Given the description of an element on the screen output the (x, y) to click on. 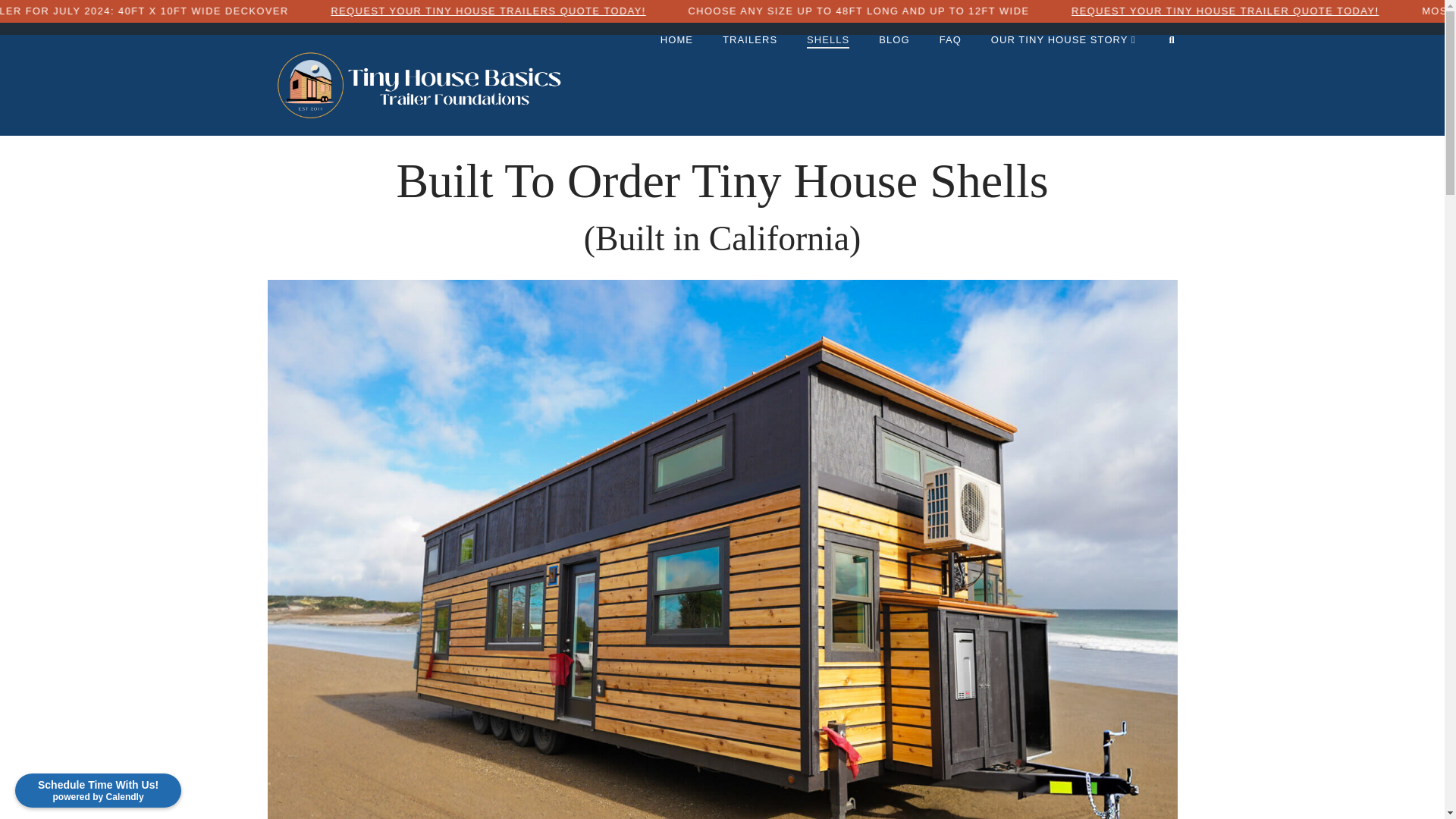
TRAILERS (749, 69)
OUR TINY HOUSE STORY (1062, 69)
REQUEST YOUR TINY HOUSE TRAILERS QUOTE TODAY! (644, 11)
HOME (676, 69)
SHELLS (827, 69)
